Given the description of an element on the screen output the (x, y) to click on. 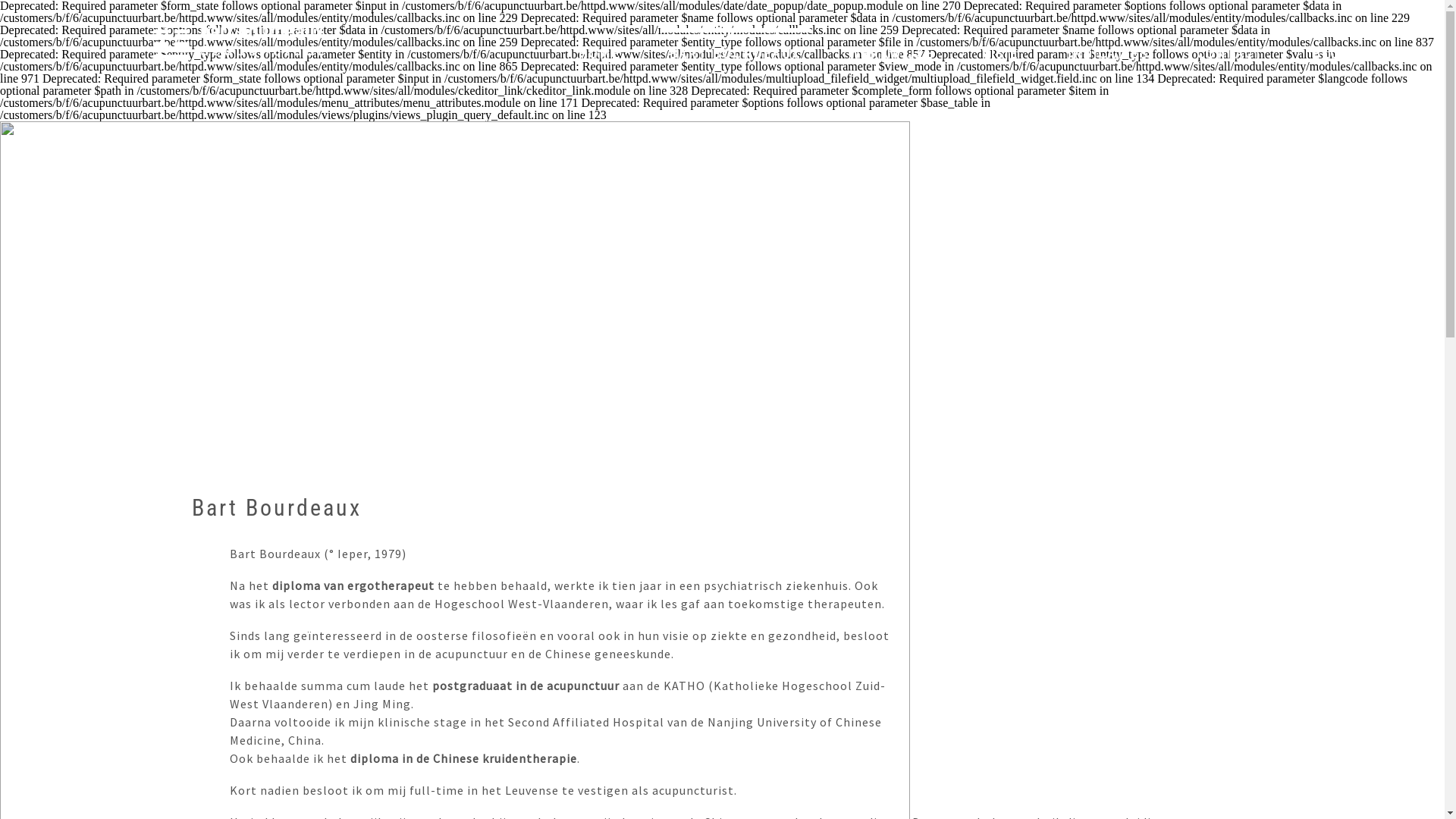
CONTACT Element type: text (1229, 53)
BLOG Element type: text (1330, 53)
VISIE Element type: text (999, 53)
INDICATIES Element type: text (1107, 53)
WERKWIJZE Element type: text (890, 53)
Overslaan en naar de inhoud gaan Element type: text (82, 121)
BART BOURDEAUX Element type: text (734, 53)
HOME Element type: text (598, 53)
